Given the description of an element on the screen output the (x, y) to click on. 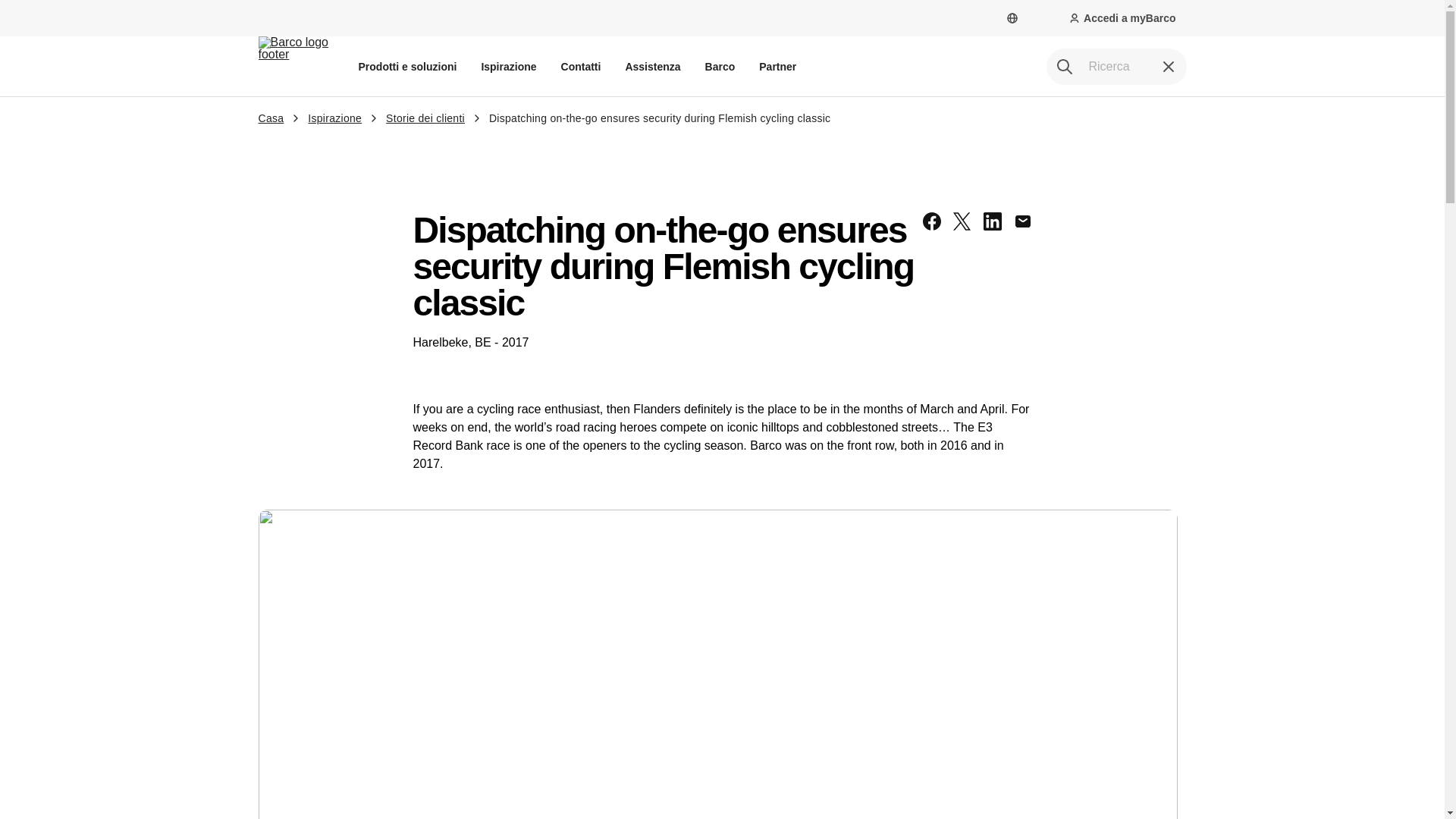
Assistenza (651, 66)
Prodotti e soluzioni (407, 66)
Ispirazione (507, 66)
